Given the description of an element on the screen output the (x, y) to click on. 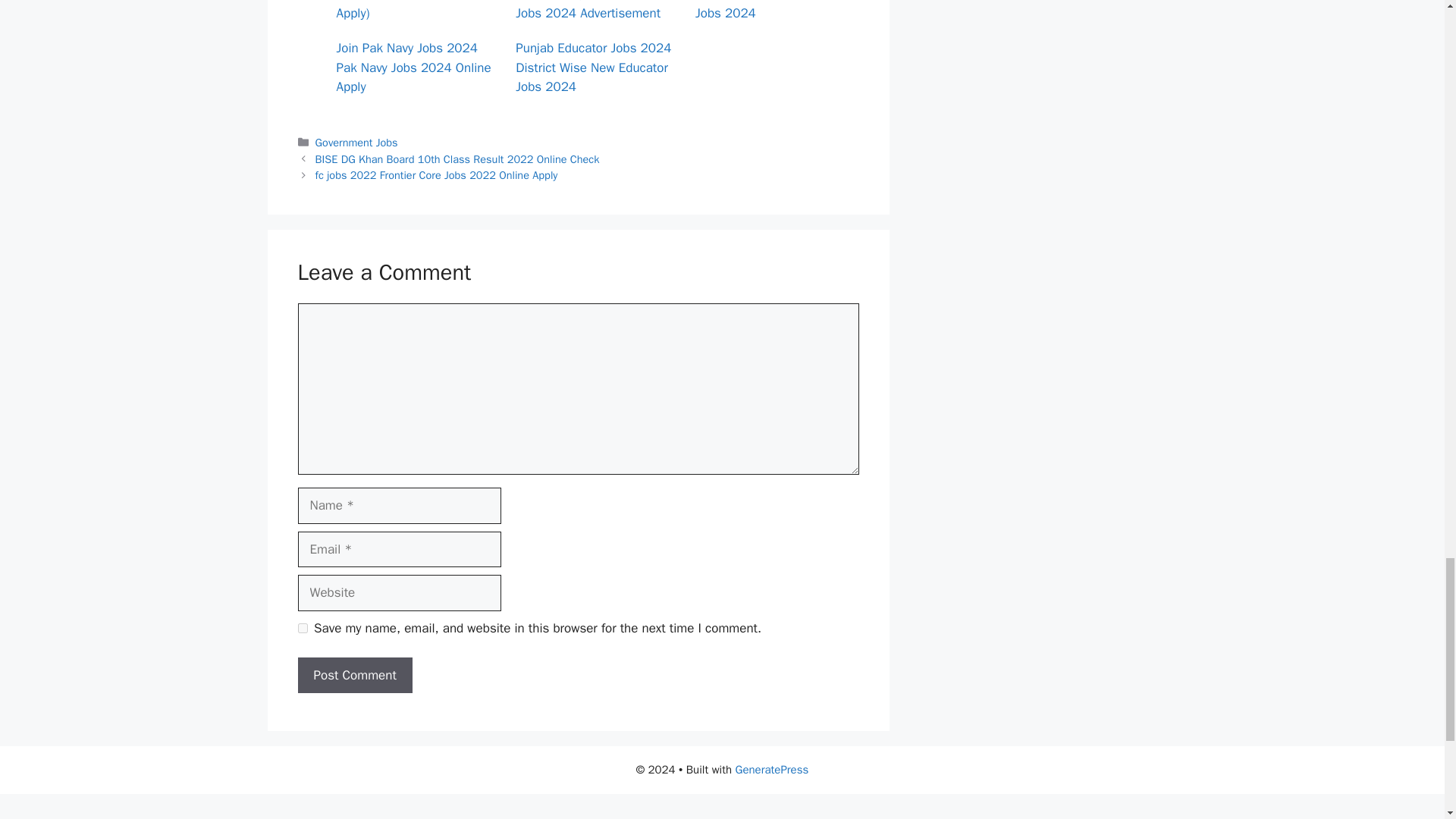
GeneratePress (772, 769)
BISE DG Khan Board 10th Class Result 2022 Online Check (457, 159)
Post Comment (354, 675)
Government Jobs (356, 142)
yes (302, 628)
Join Pak Navy Jobs 2024 Pak Navy Jobs 2024 Online Apply (414, 67)
fc jobs 2022 Frontier Core Jobs 2022 Online Apply (436, 174)
NBP Bank Jobs 2024 National Bank of Pakistan Jobs 2024 (768, 10)
Post Comment (354, 675)
